Given the description of an element on the screen output the (x, y) to click on. 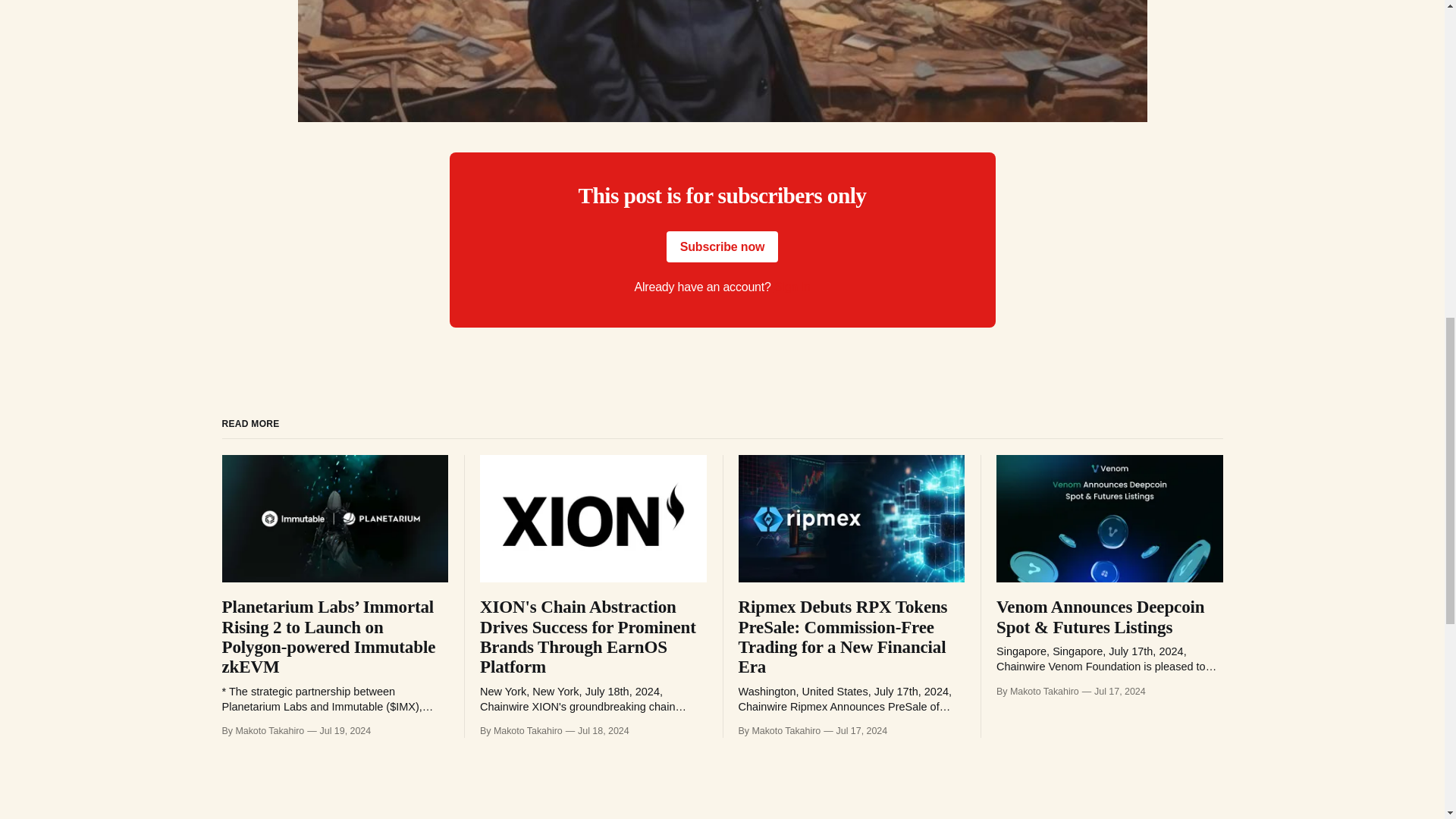
Subscribe now (722, 246)
Sign in (792, 286)
